Given the description of an element on the screen output the (x, y) to click on. 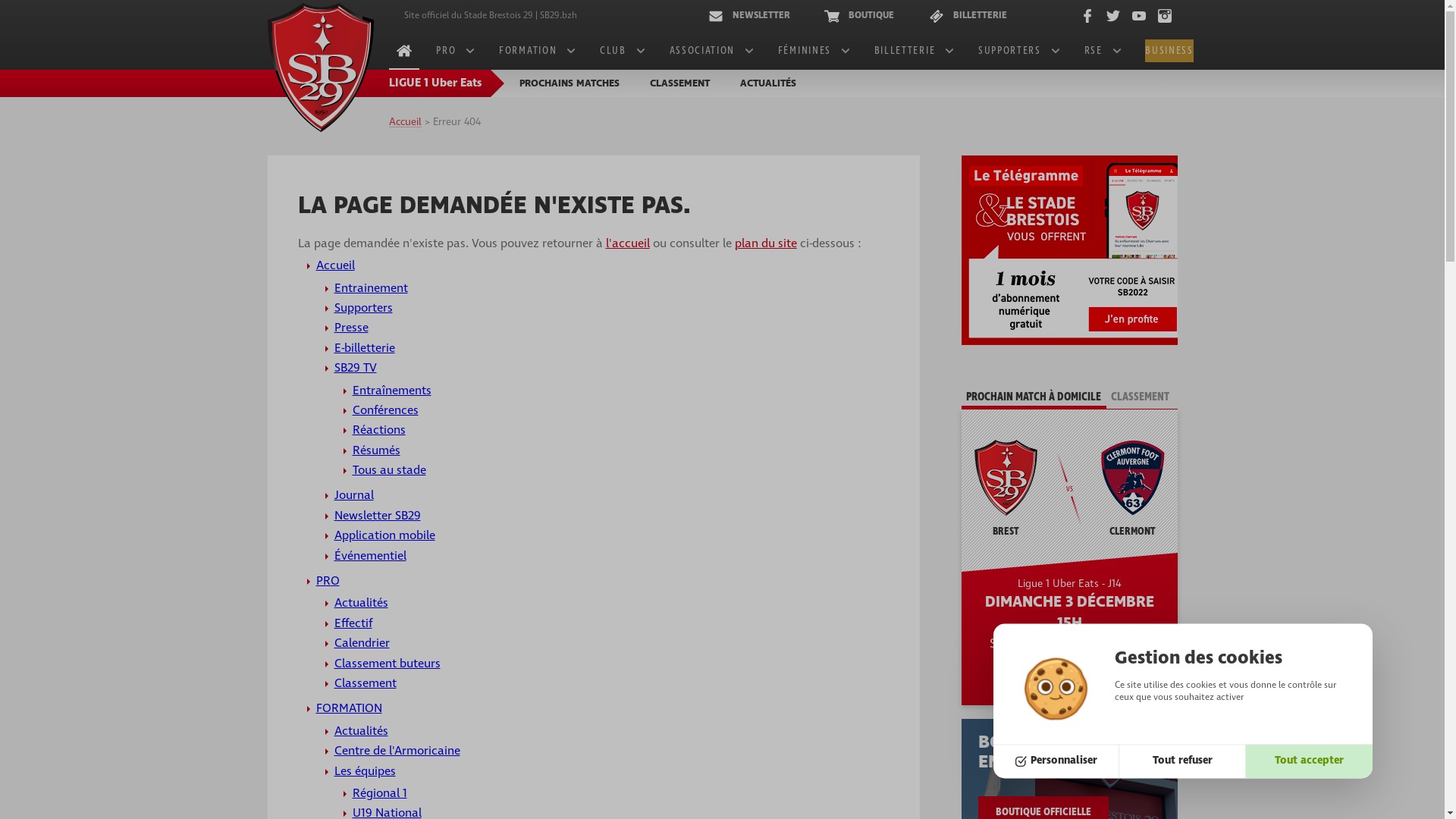
Entrainement Element type: text (370, 287)
BOUTIQUE Element type: text (863, 15)
Presse Element type: text (350, 327)
Accueil Element type: text (404, 122)
BILLETTERIE Element type: text (972, 15)
RSE Element type: text (1102, 50)
l'accueil Element type: text (627, 243)
BUSINESS Element type: text (1168, 50)
ASSOCIATION Element type: text (711, 50)
Classement Element type: text (364, 682)
Personnaliser Element type: text (1056, 760)
Tous au stade Element type: text (388, 469)
Application mobile Element type: text (383, 535)
SB29 TV Element type: text (354, 367)
Tout accepter Element type: text (1308, 760)
Suivez-nous sur Pinterest ! Element type: text (1163, 15)
Classement buteurs Element type: text (386, 663)
E-billetterie Element type: text (363, 347)
Journal Element type: text (353, 494)
Centre de l'Armoricaine Element type: text (396, 750)
ACHETER UN BILLET Element type: text (1068, 674)
CLASSEMENT Element type: text (1140, 396)
FORMATION Element type: text (348, 707)
NEWSLETTER Element type: text (753, 15)
Accueil Element type: text (334, 265)
Effectif Element type: text (352, 623)
BILLETTERIE Element type: text (913, 50)
Rejoignez-nous sur Facebook ! Element type: text (1086, 15)
PROCHAINS MATCHES Element type: text (568, 83)
PRO Element type: text (454, 50)
Newsletter SB29 Element type: text (376, 515)
Tout refuser Element type: text (1182, 760)
ACCUEIL Element type: text (403, 50)
Erreur 404 Element type: text (456, 122)
Calendrier Element type: text (361, 642)
CLASSEMENT Element type: text (678, 83)
Suivez-nous sur Twitter ! Element type: text (1112, 15)
PRO Element type: text (326, 580)
Supporters Element type: text (362, 307)
plan du site Element type: text (765, 243)
SUPPORTERS Element type: text (1018, 50)
CLUB Element type: text (622, 50)
FORMATION Element type: text (536, 50)
